Given the description of an element on the screen output the (x, y) to click on. 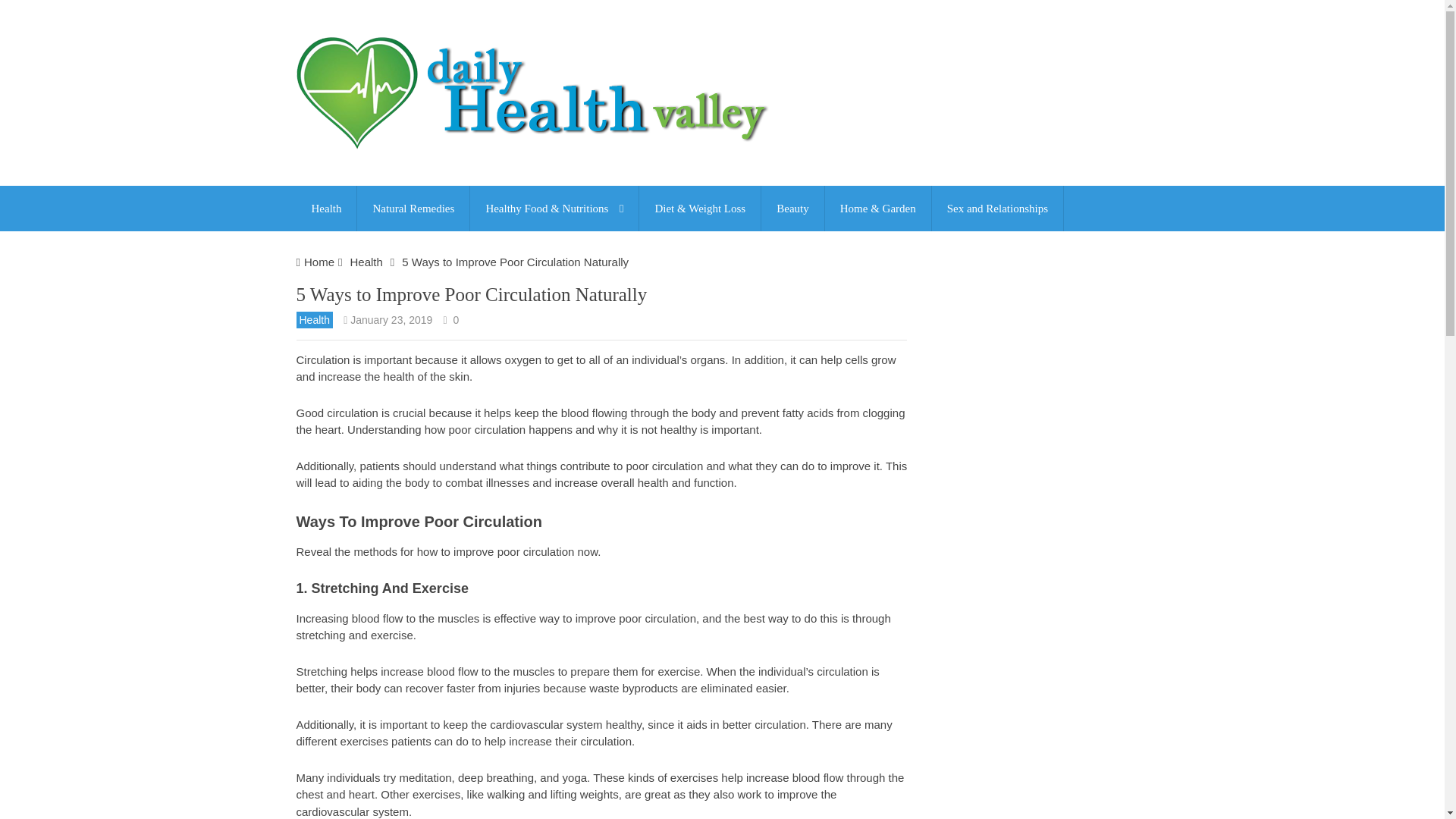
Health (325, 207)
View all posts in Health (313, 320)
Sex and Relationships (996, 207)
Home (319, 261)
Beauty (792, 207)
0 (456, 319)
Health (365, 261)
Health (313, 320)
Natural Remedies (412, 207)
